Given the description of an element on the screen output the (x, y) to click on. 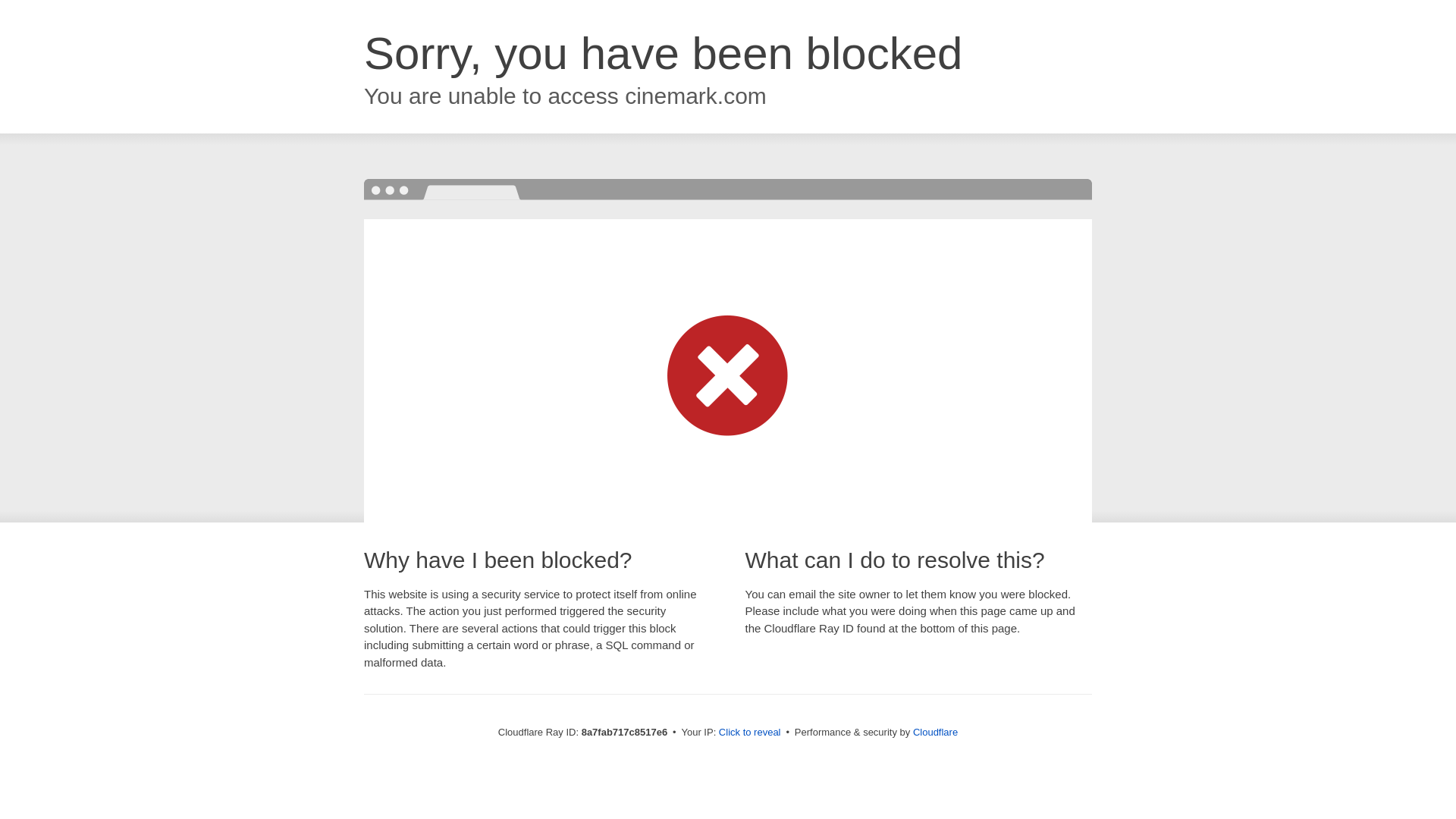
Cloudflare (935, 731)
Click to reveal (749, 732)
